Given the description of an element on the screen output the (x, y) to click on. 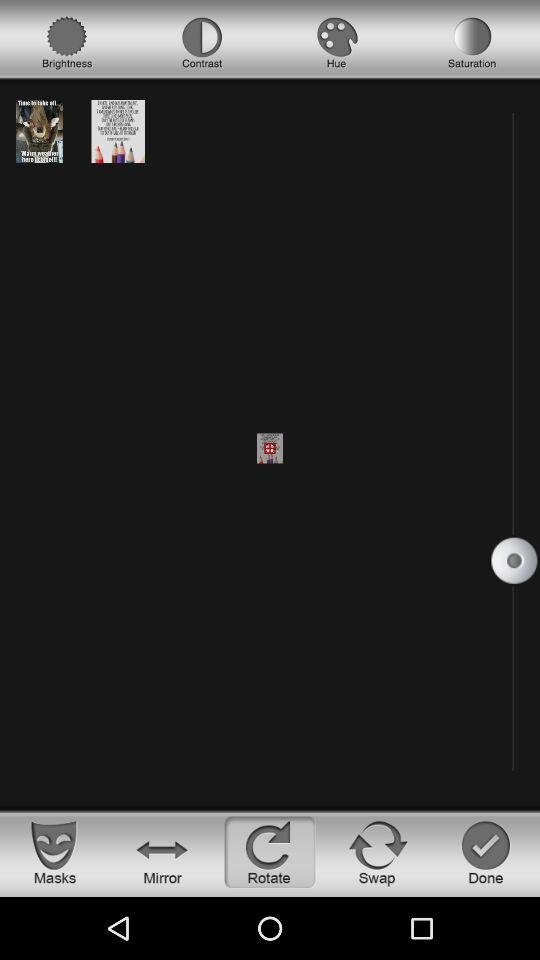
rotate screen (269, 852)
